Given the description of an element on the screen output the (x, y) to click on. 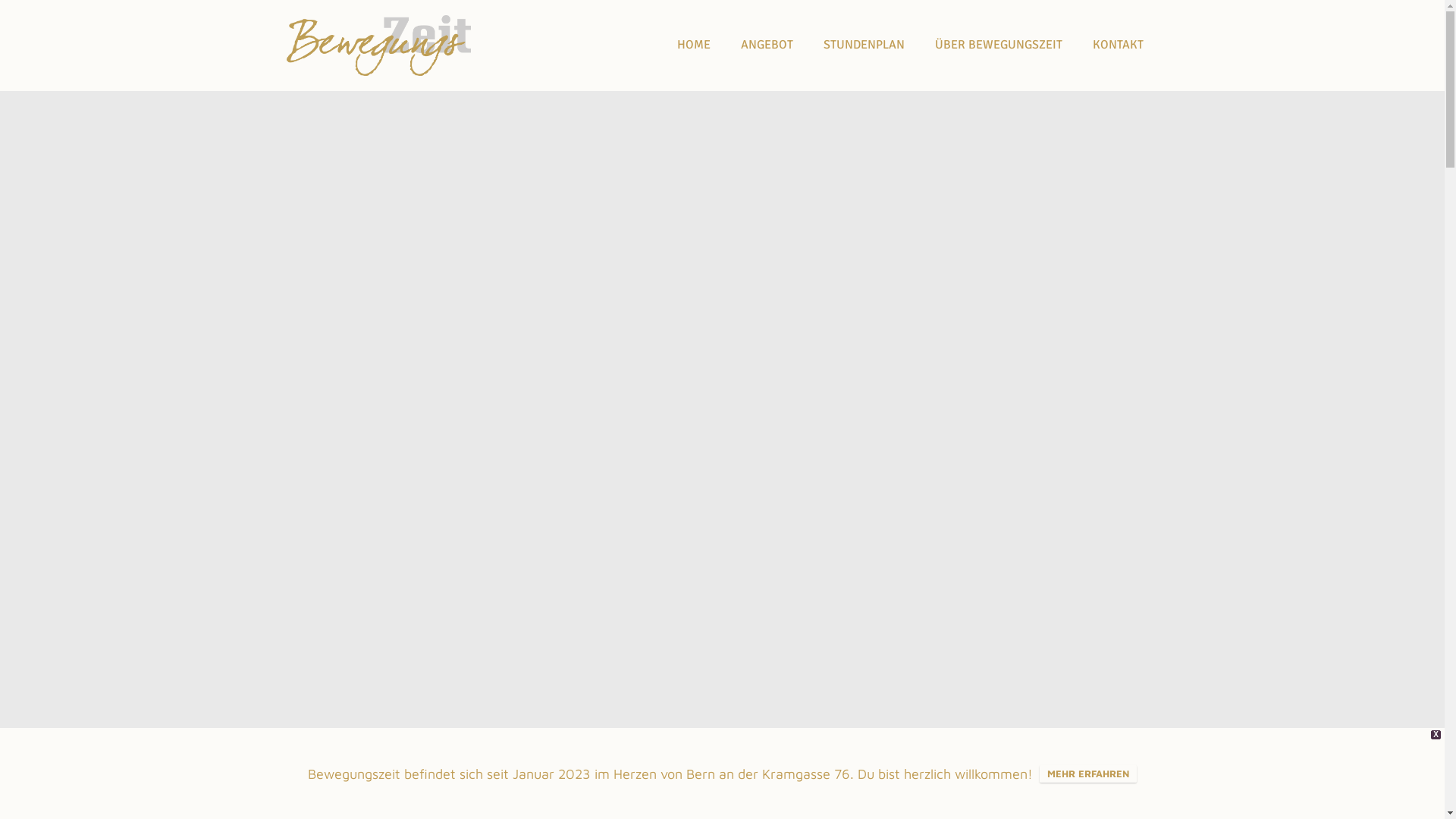
STUNDENPLAN Element type: text (863, 44)
ANGEBOT Element type: text (765, 44)
HOME Element type: text (692, 44)
KONTAKT Element type: text (1116, 44)
MEHR ERFAHREN Element type: text (1087, 772)
